Given the description of an element on the screen output the (x, y) to click on. 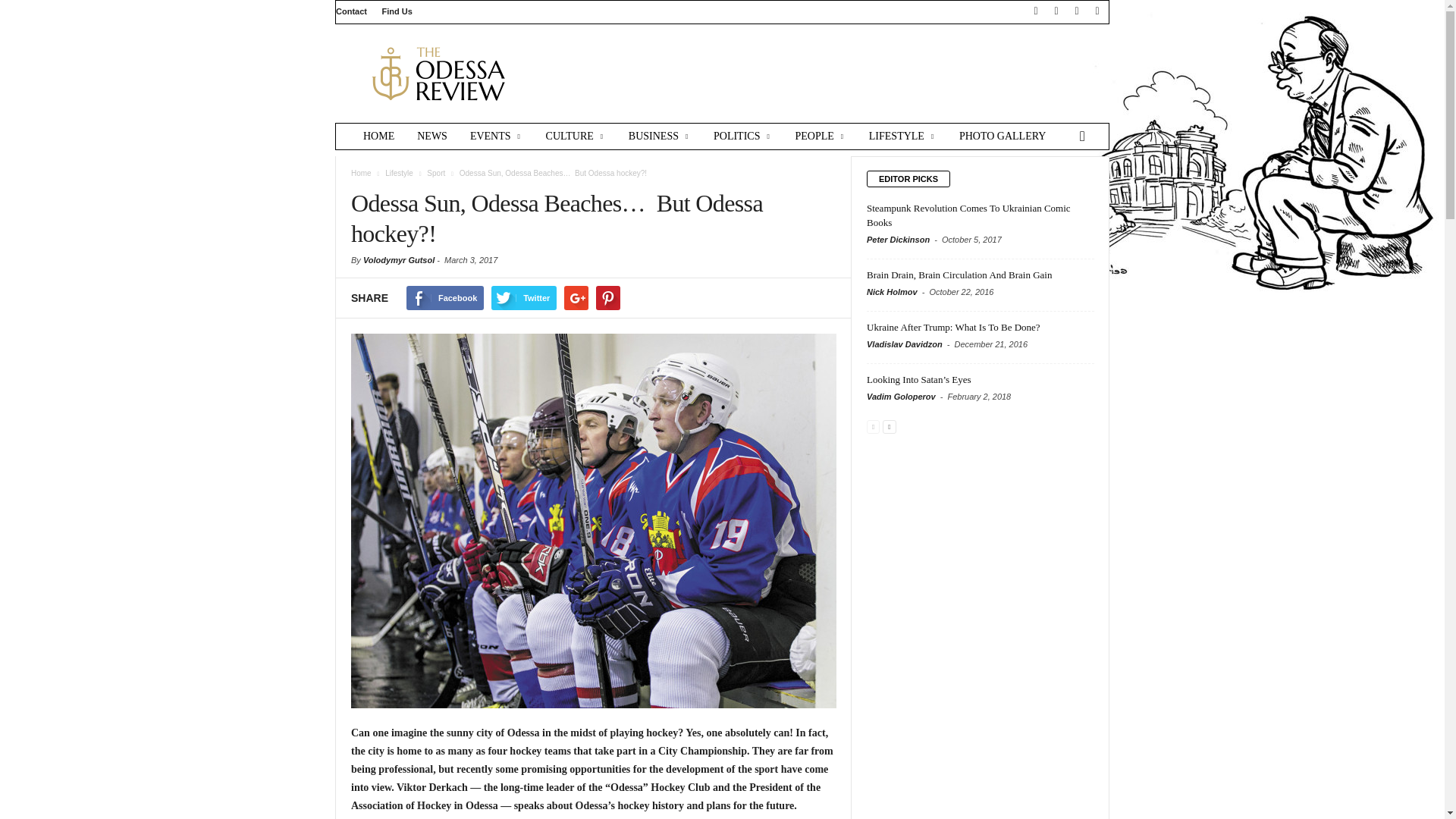
Youtube (1096, 11)
EVENTS (496, 136)
Instagram (1055, 11)
The Odessa Review Magazine (438, 73)
HOME (379, 136)
Facebook (1035, 11)
Twitter (1076, 11)
Contact (351, 10)
NEWS (432, 136)
Find Us (396, 10)
